Given the description of an element on the screen output the (x, y) to click on. 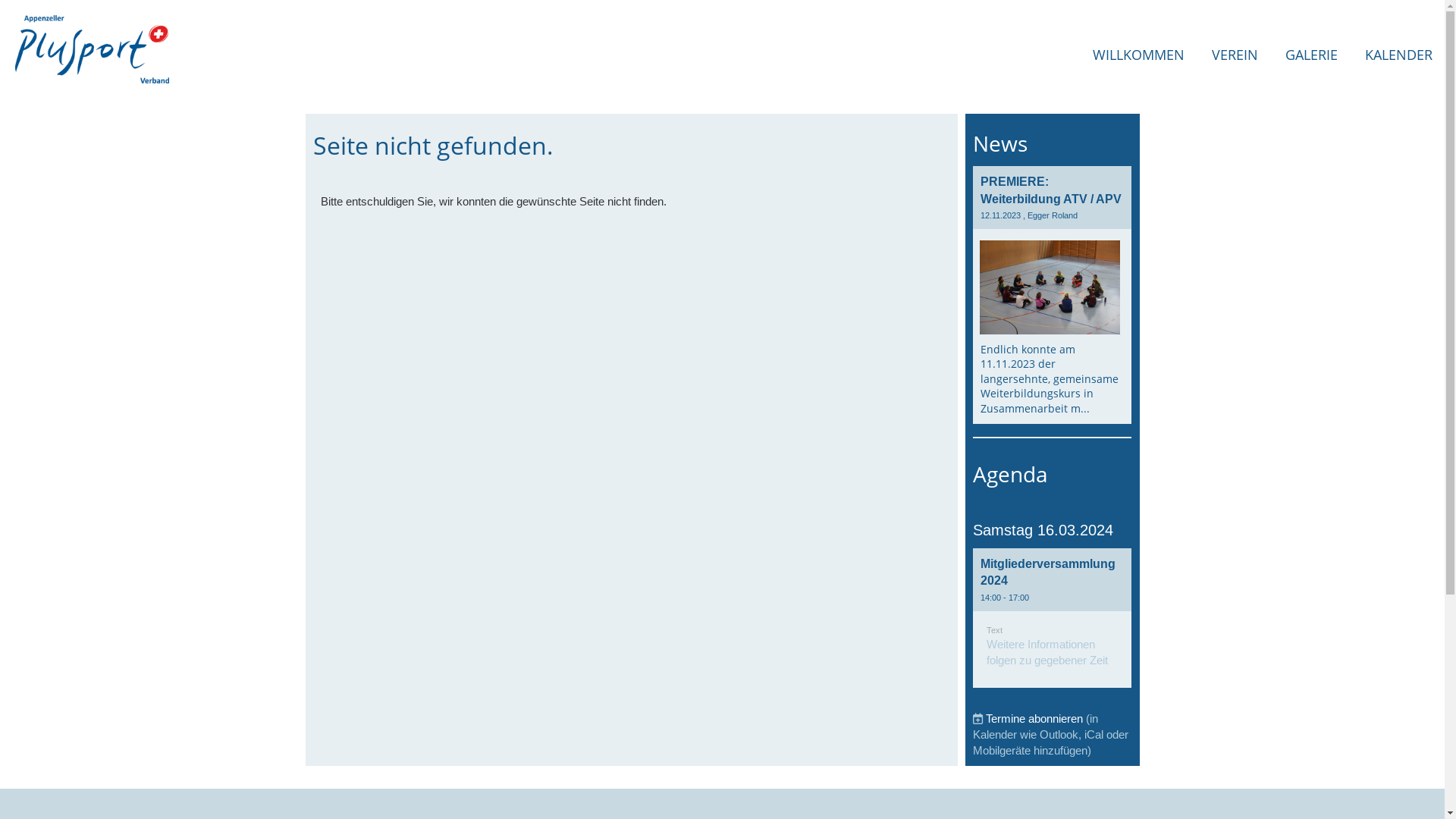
KALENDER Element type: text (1398, 54)
WILLKOMMEN Element type: text (1138, 54)
Termine abonnieren Element type: text (1033, 718)
GALERIE Element type: text (1311, 54)
VEREIN Element type: text (1234, 54)
